Given the description of an element on the screen output the (x, y) to click on. 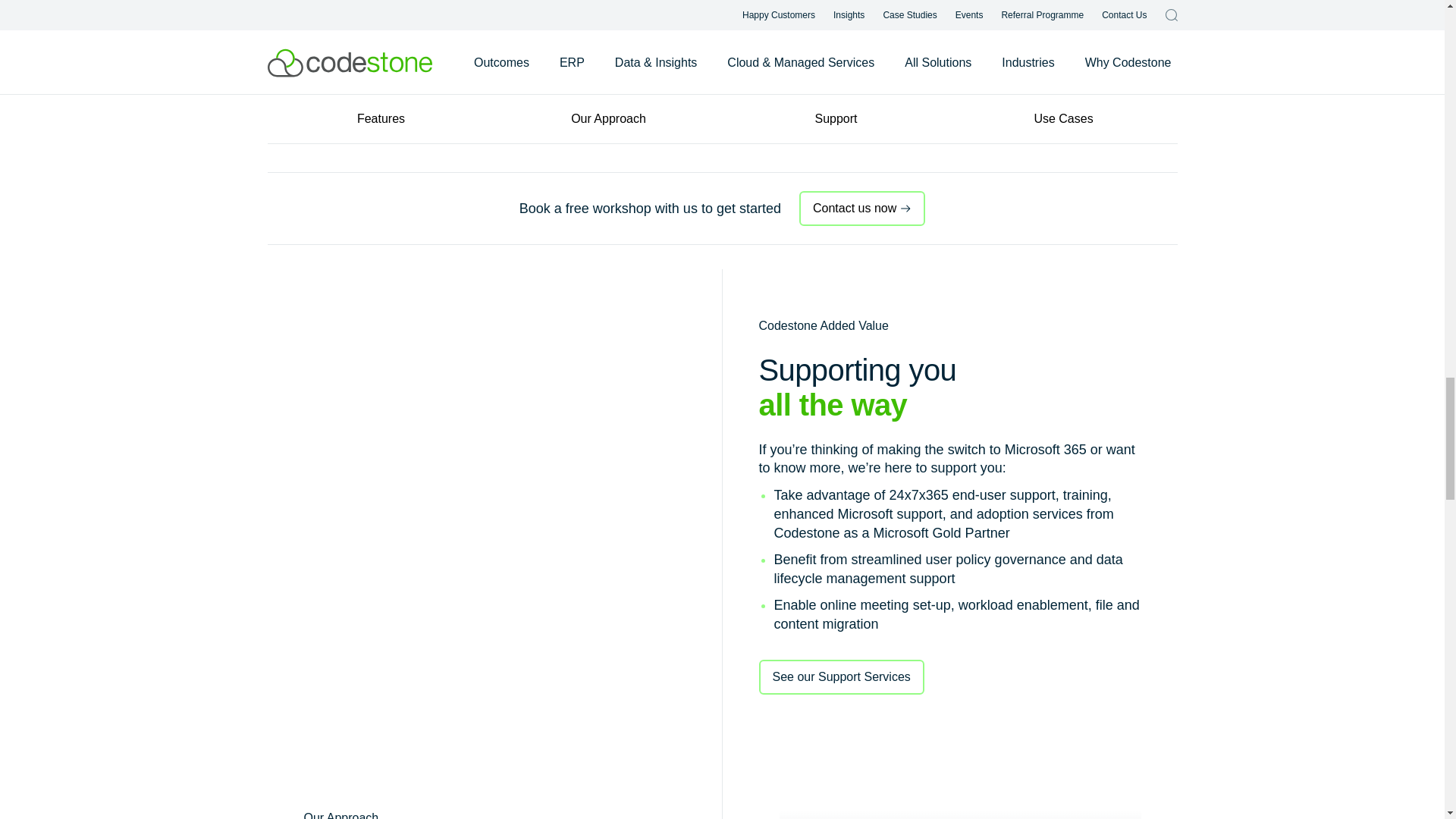
Microsoft 365 Enterprise - An Overview (959, 814)
